Given the description of an element on the screen output the (x, y) to click on. 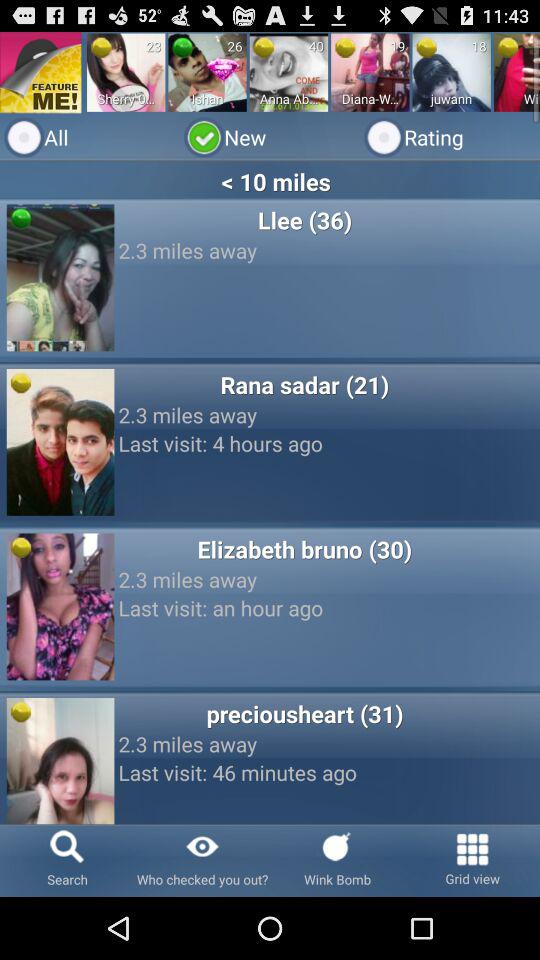
turn off icon above the ishan item (182, 47)
